Given the description of an element on the screen output the (x, y) to click on. 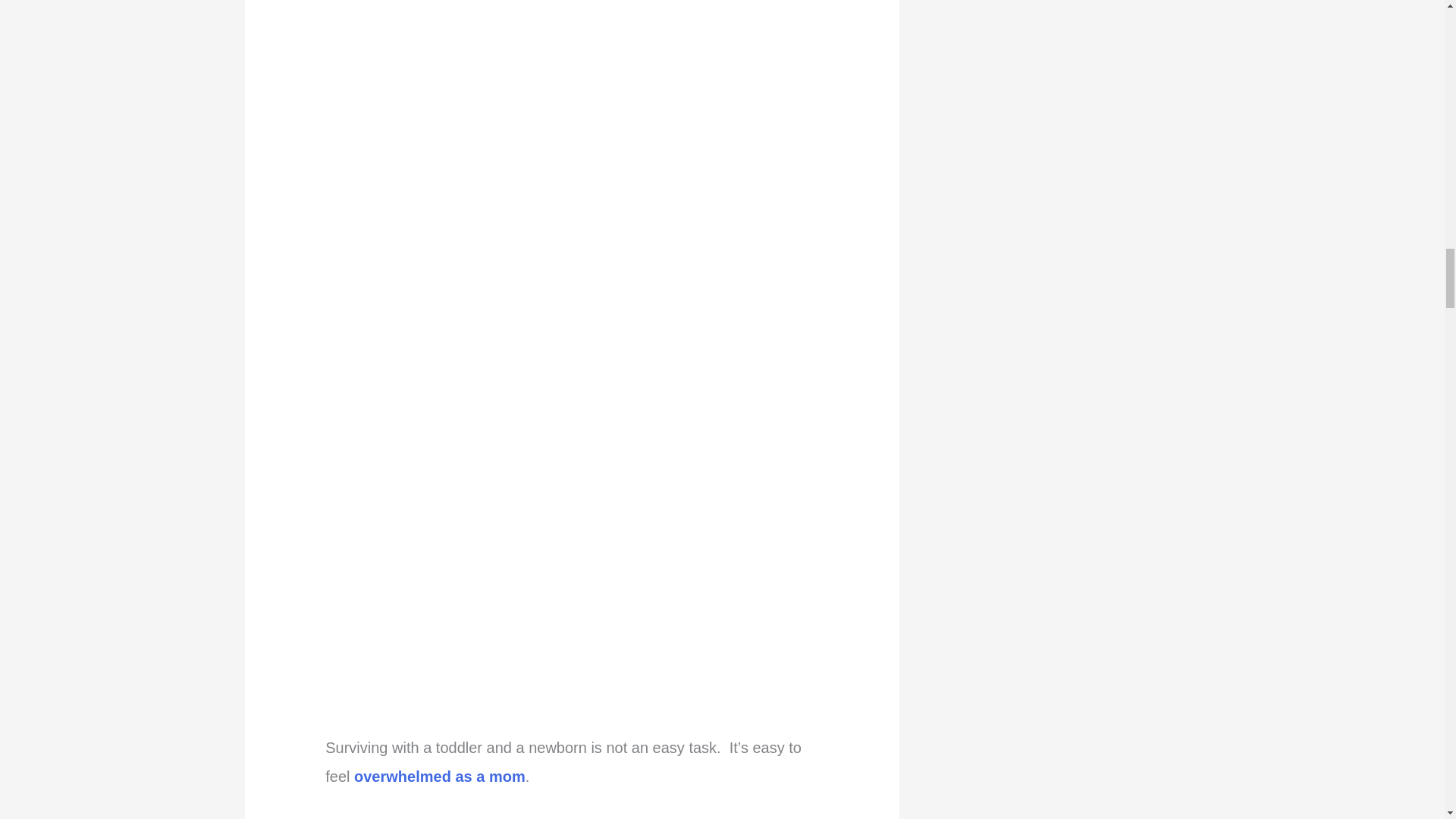
overwhelmed as a mom (439, 776)
